Given the description of an element on the screen output the (x, y) to click on. 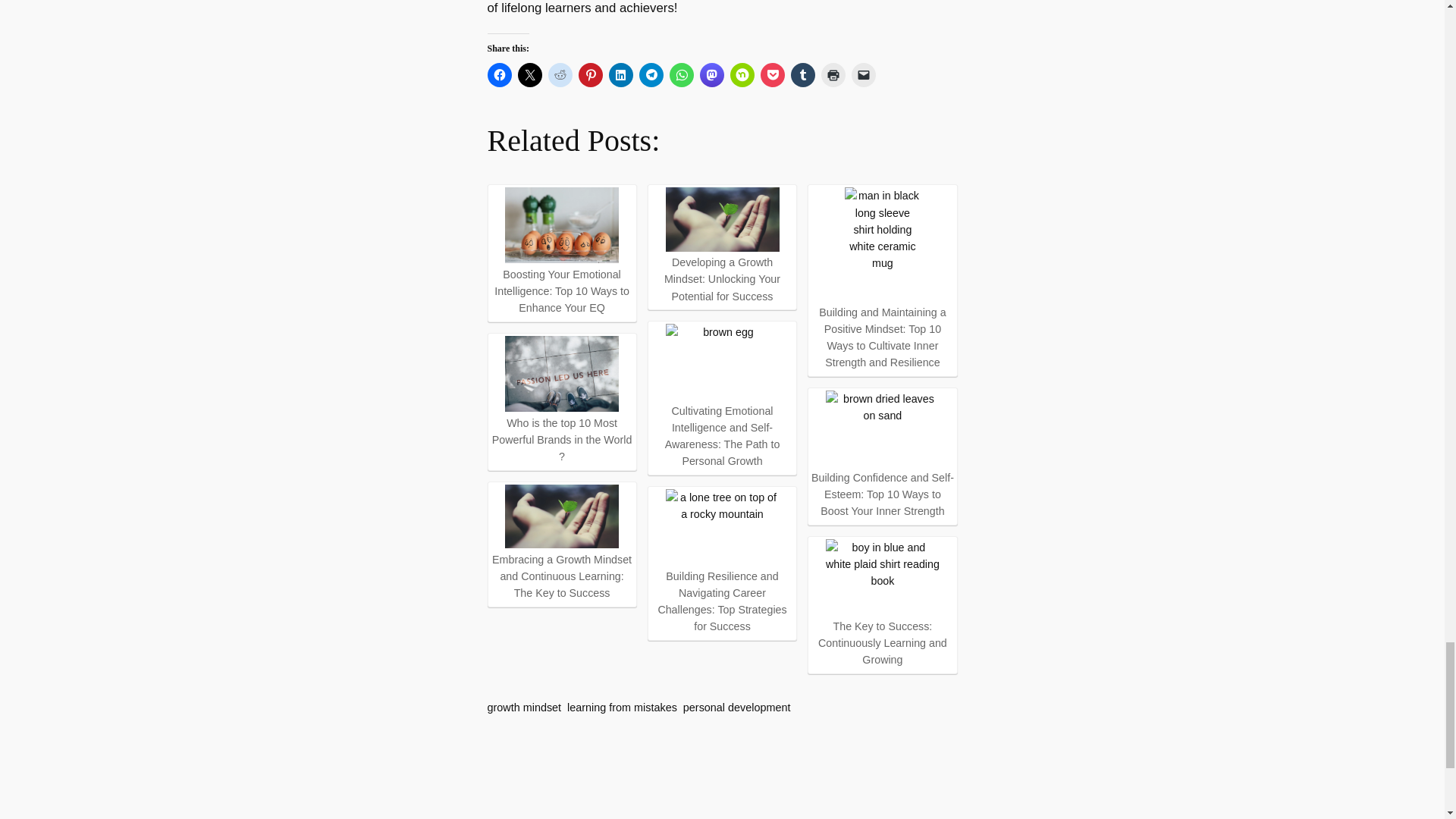
Click to share on Reddit (559, 74)
personal development (736, 707)
Click to share on Pinterest (590, 74)
Click to share on LinkedIn (619, 74)
Click to share on Mastodon (710, 74)
Who is the top 10 Most Powerful Brands in the World ? (561, 400)
Click to email a link to a friend (862, 74)
learning from mistakes (622, 707)
